Given the description of an element on the screen output the (x, y) to click on. 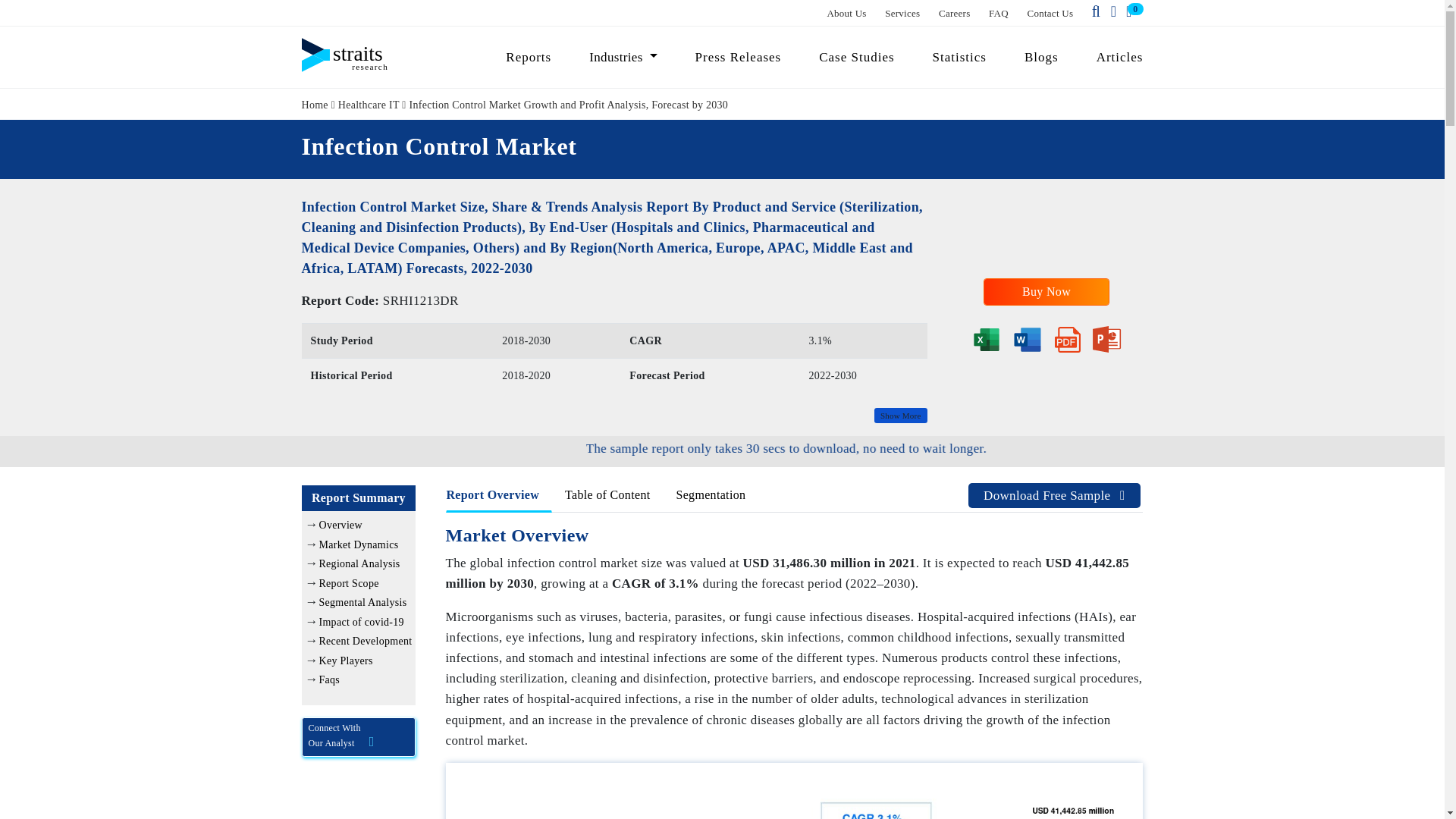
Impact of covid-19 (360, 622)
Market Dynamics (357, 544)
Report Scope (348, 583)
Blogs (1041, 56)
Home (315, 103)
Careers (955, 12)
Services (902, 12)
Contact Us (1050, 12)
Faqs (328, 679)
FAQ (998, 12)
